Given the description of an element on the screen output the (x, y) to click on. 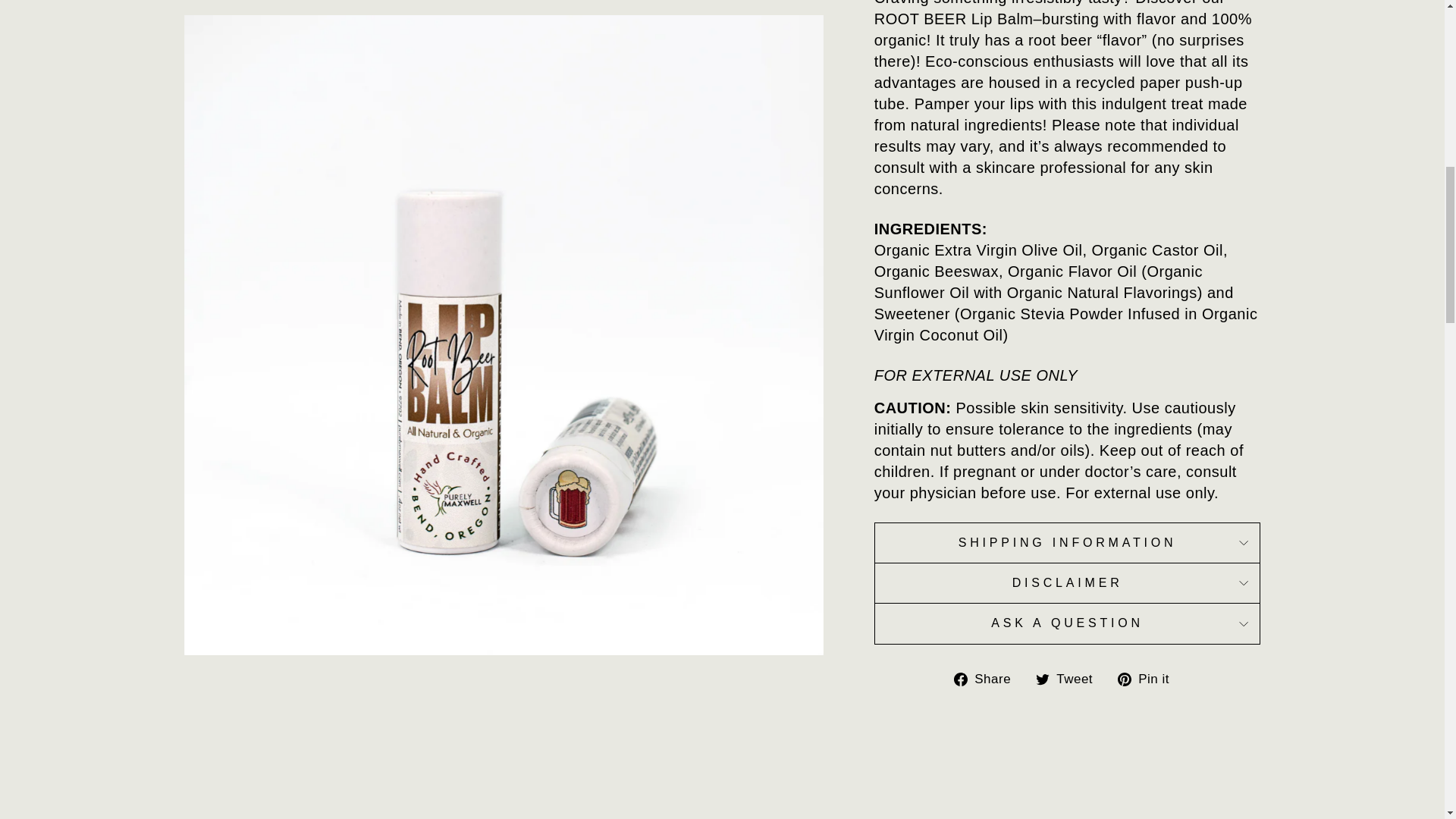
Tweet on Twitter (1069, 677)
Share on Facebook (987, 677)
Pin on Pinterest (1149, 677)
twitter (1042, 679)
